Given the description of an element on the screen output the (x, y) to click on. 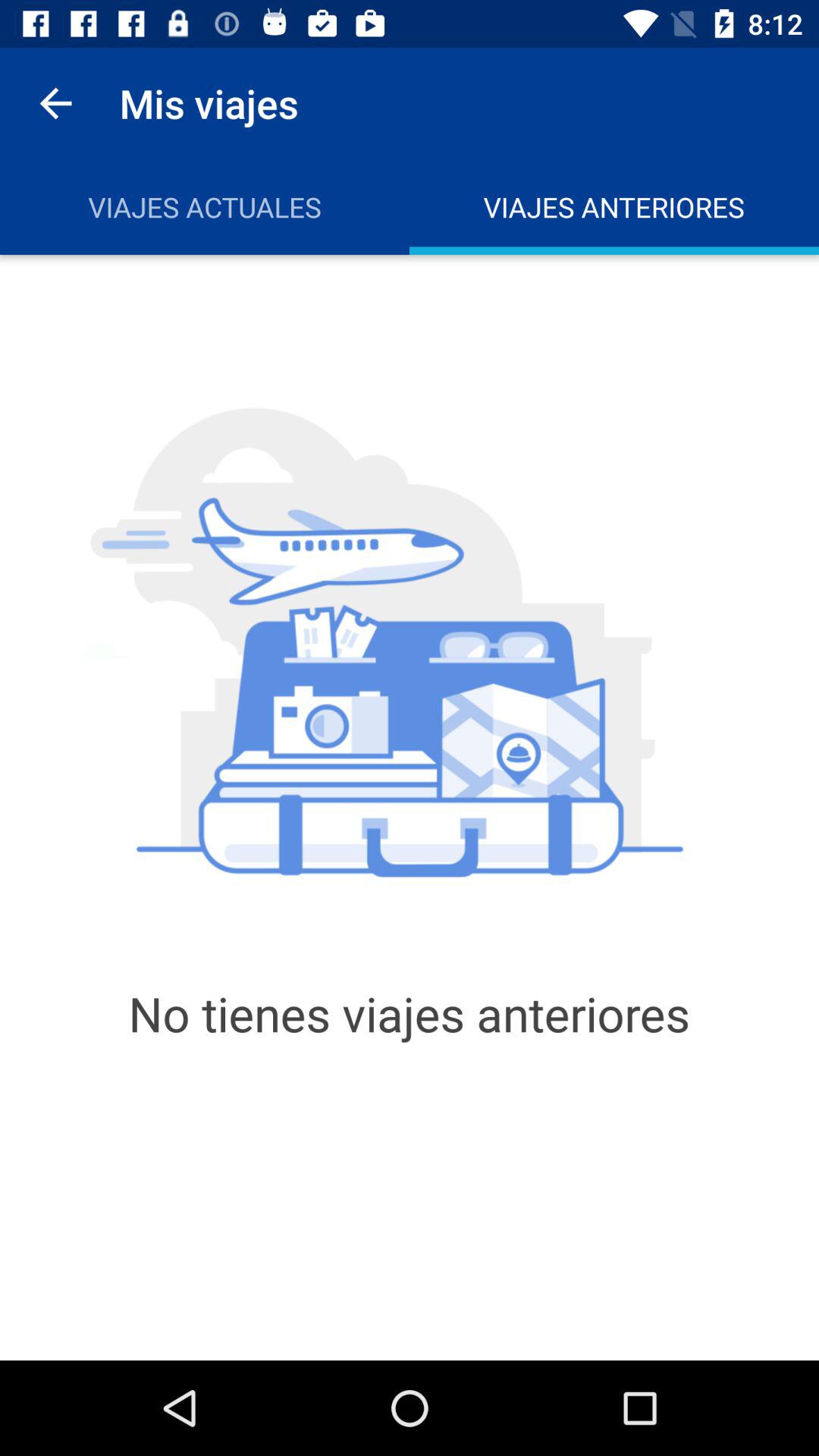
select app to the left of the mis viajes icon (55, 103)
